Given the description of an element on the screen output the (x, y) to click on. 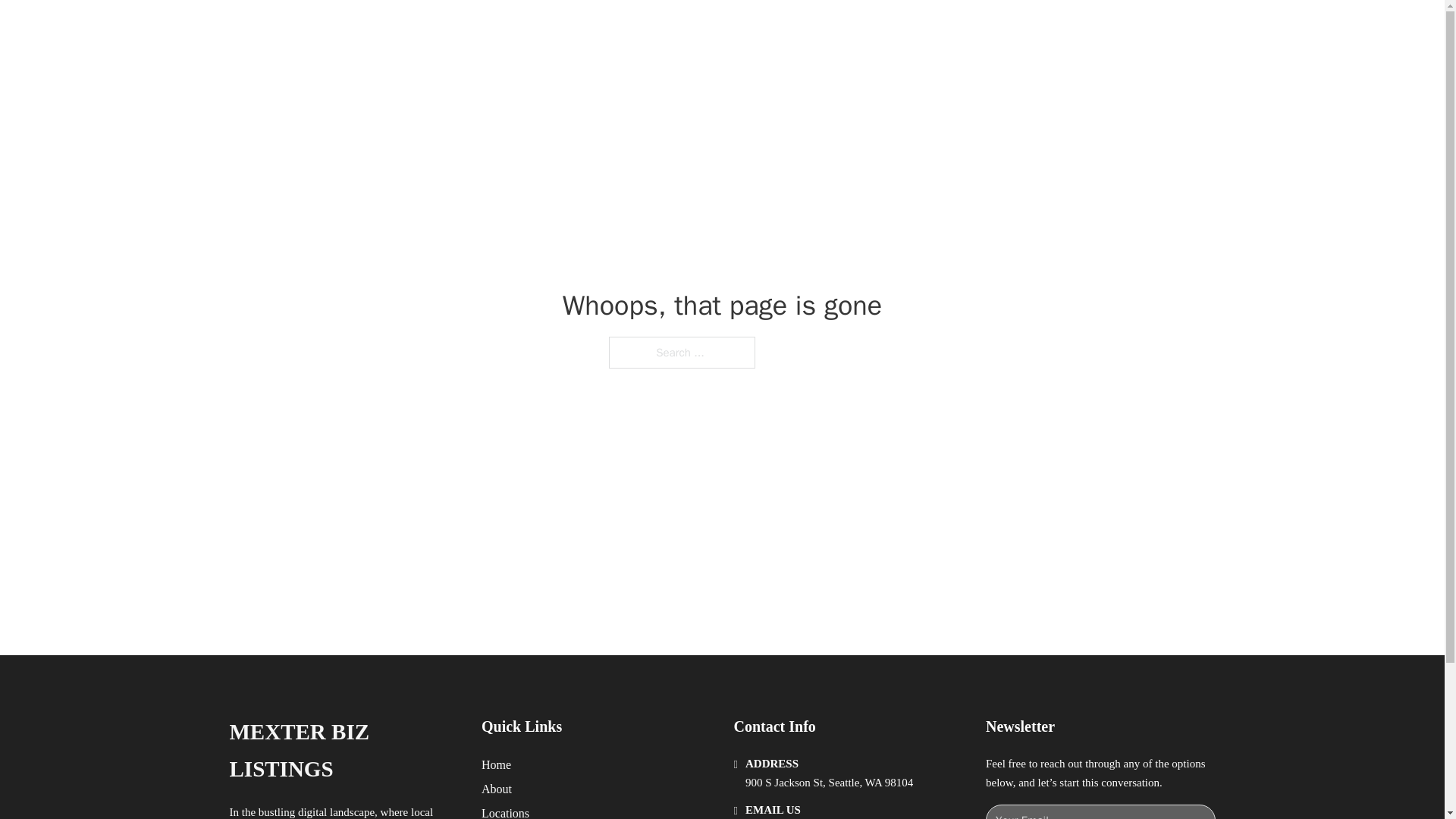
MEXTER BIZ LISTINGS (419, 28)
MEXTER BIZ LISTINGS (343, 750)
About (496, 788)
LOCATIONS (990, 29)
Home (496, 764)
Locations (505, 811)
HOME (919, 29)
